Given the description of an element on the screen output the (x, y) to click on. 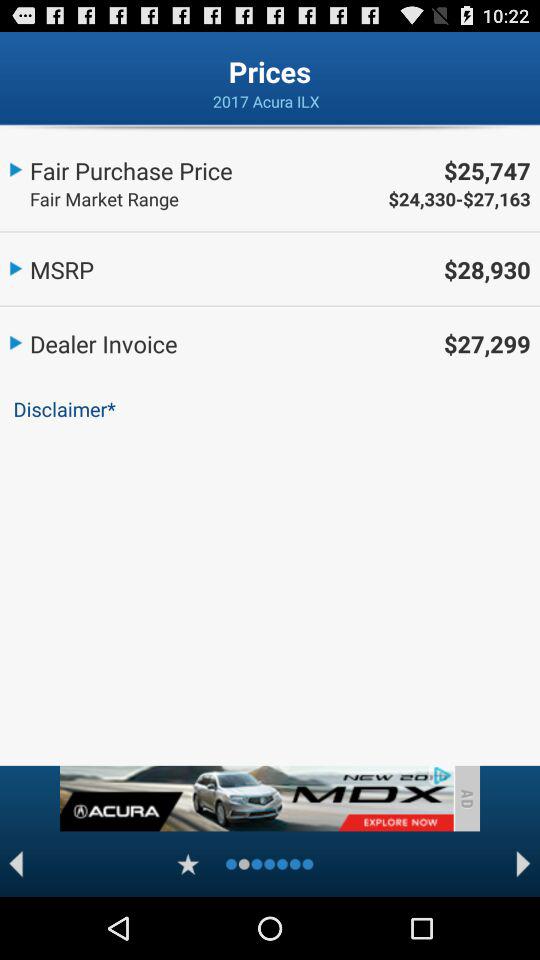
go to previous (16, 864)
